Given the description of an element on the screen output the (x, y) to click on. 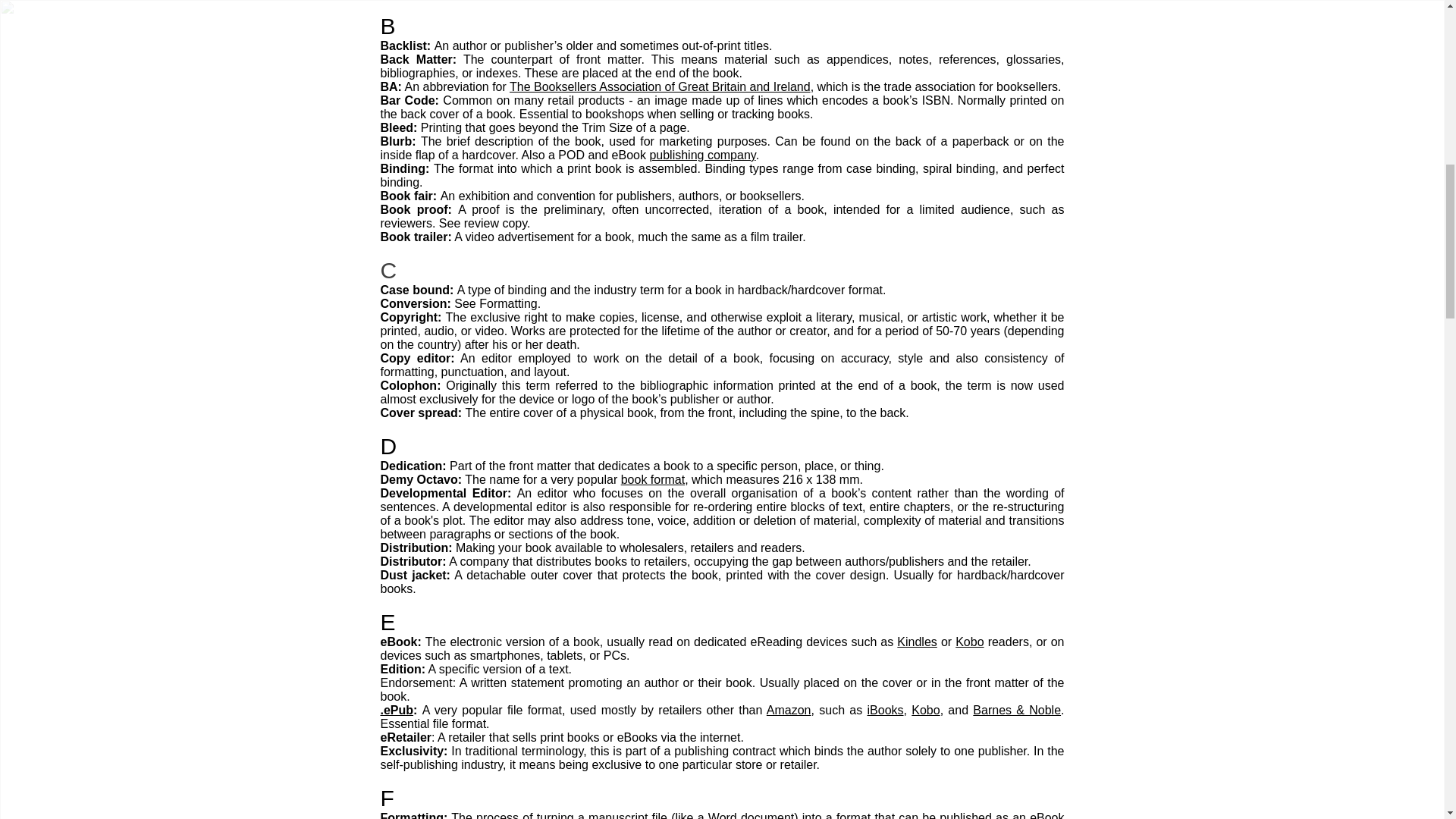
Amazon (788, 709)
The Booksellers Association of Great Britain and Ireland (659, 86)
iBooks (885, 709)
Kobo (969, 641)
publishing company (702, 154)
Kindles (916, 641)
.ePub (396, 709)
book format (652, 479)
Kobo (925, 709)
